Given the description of an element on the screen output the (x, y) to click on. 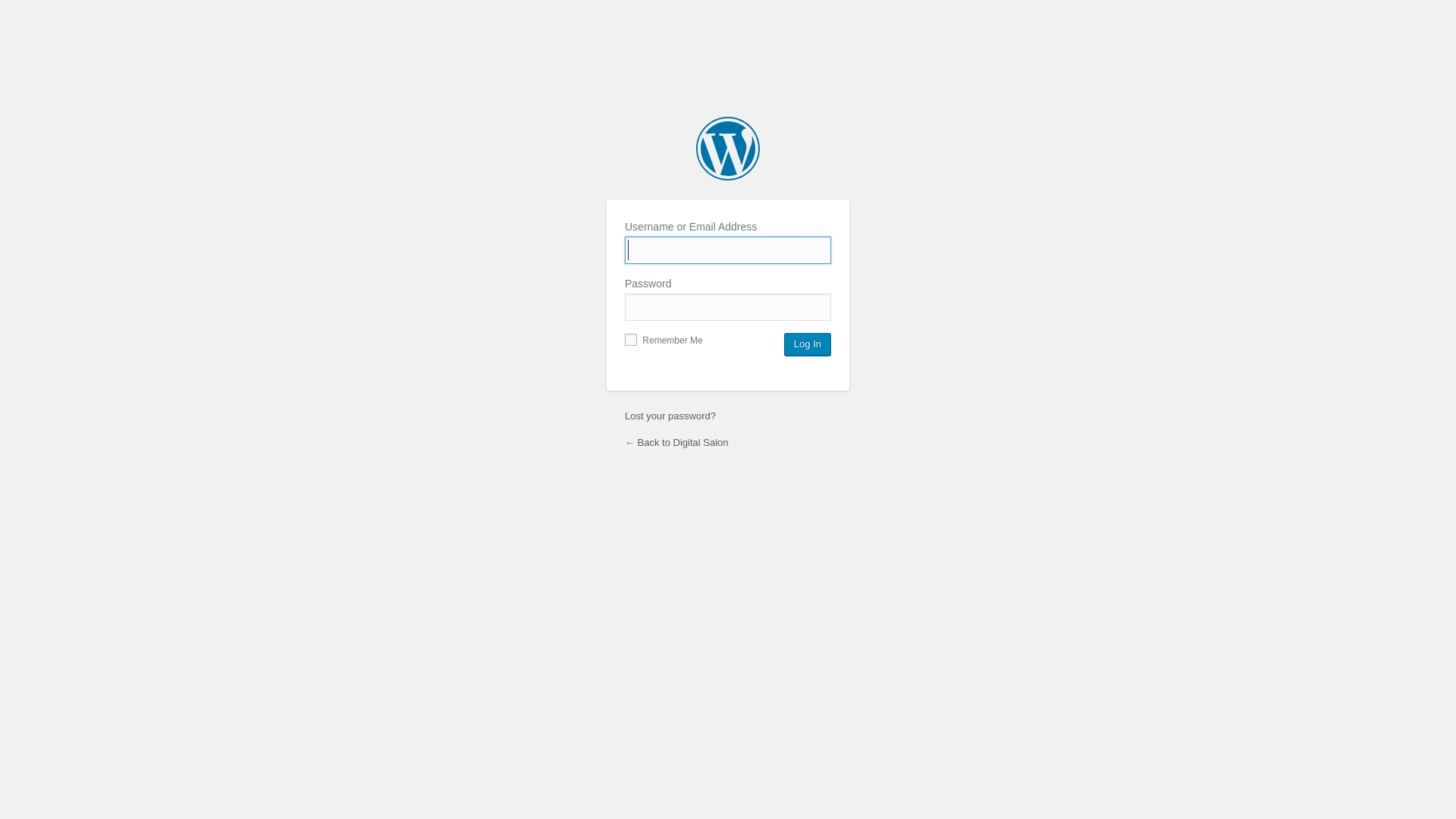
Log In Element type: text (807, 343)
Powered by WordPress Element type: text (727, 148)
Lost your password? Element type: text (669, 415)
